Given the description of an element on the screen output the (x, y) to click on. 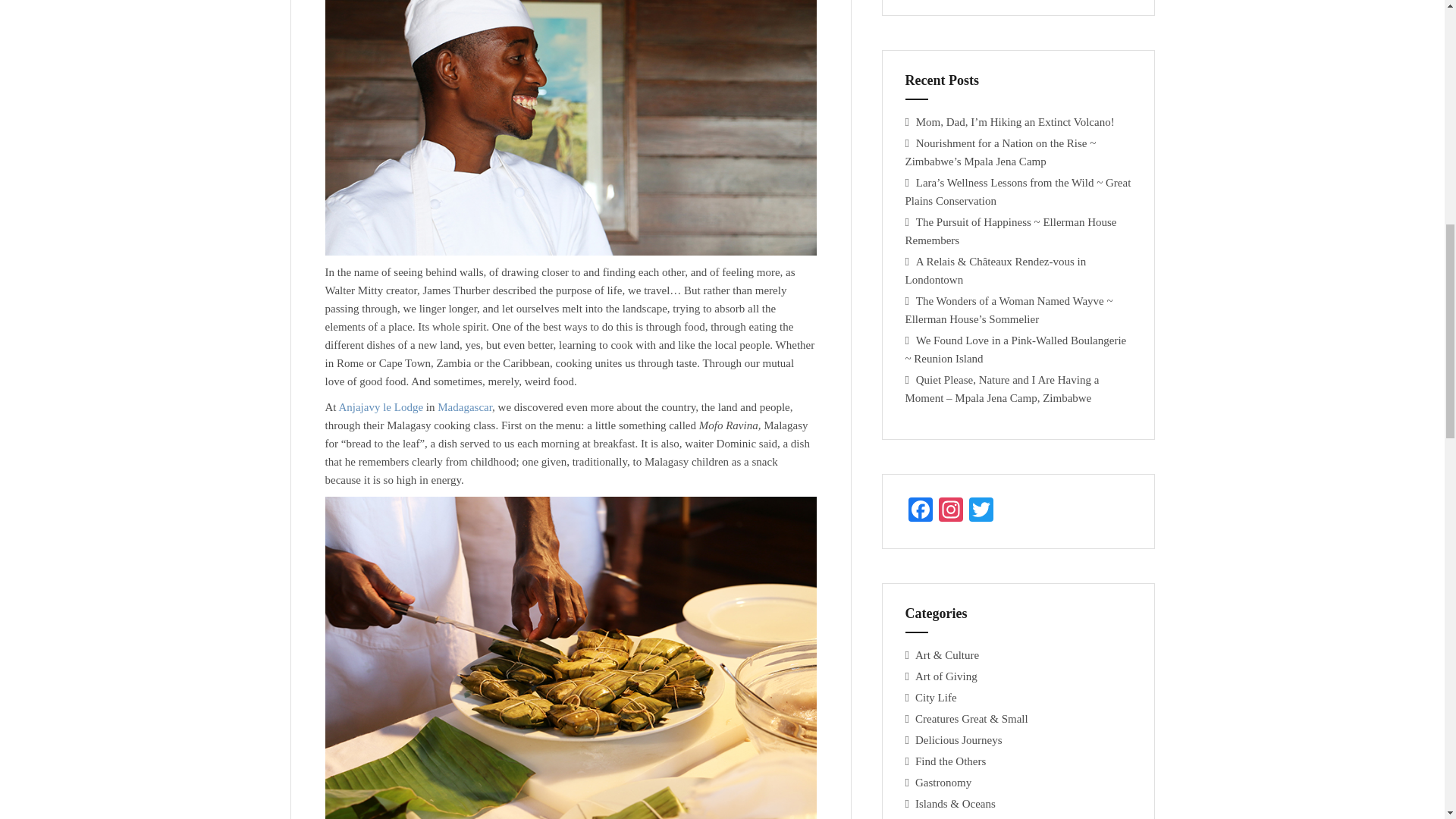
Facebook (920, 511)
Instagram (951, 511)
Facebook (920, 511)
Twitter (980, 511)
Instagram (951, 511)
Madagascar (465, 407)
Twitter (980, 511)
Anjajavy le Lodge (380, 407)
